Given the description of an element on the screen output the (x, y) to click on. 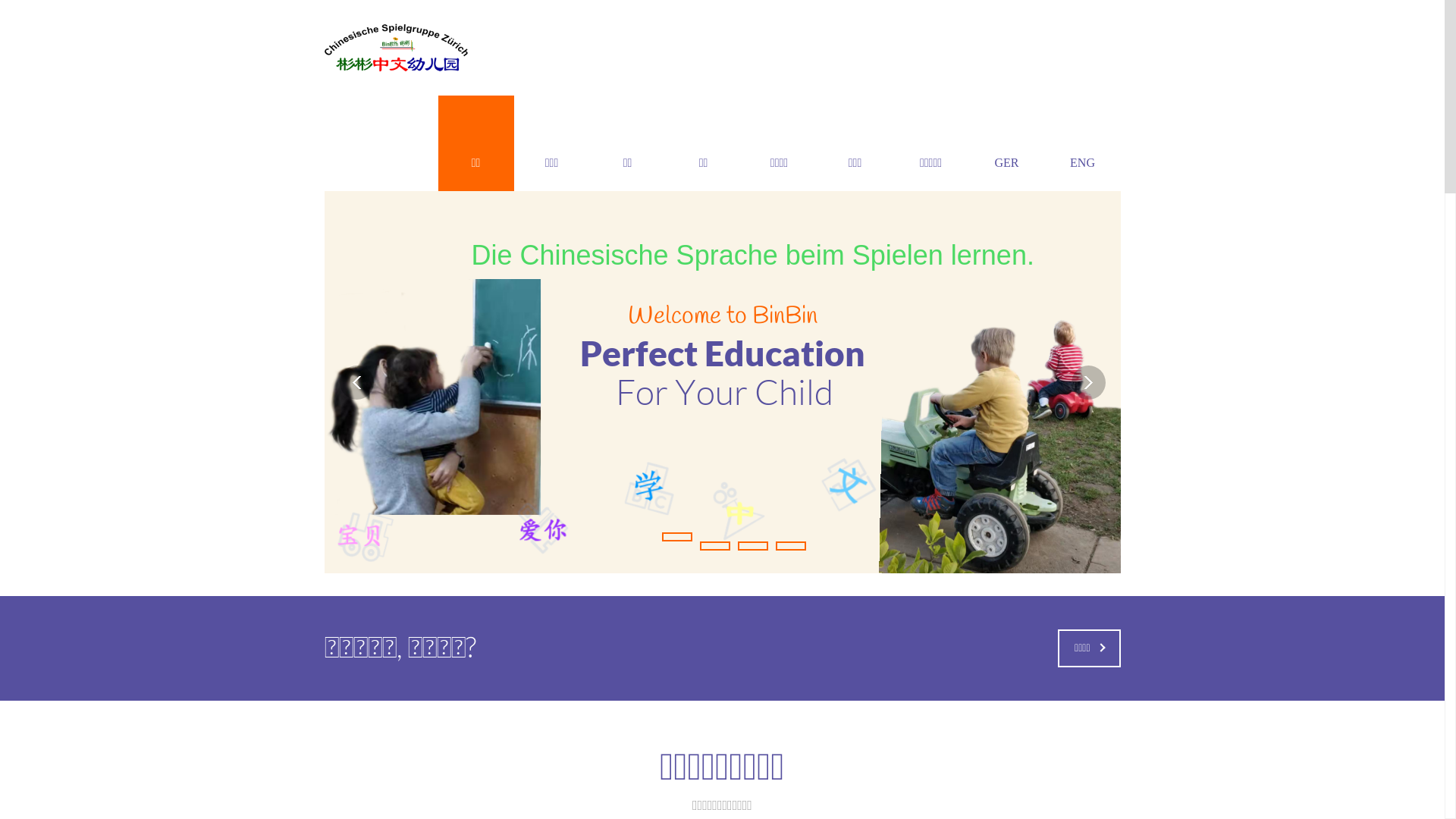
GER Element type: text (1006, 143)
Impressum Element type: text (556, 733)
ENG Element type: text (1082, 143)
